Given the description of an element on the screen output the (x, y) to click on. 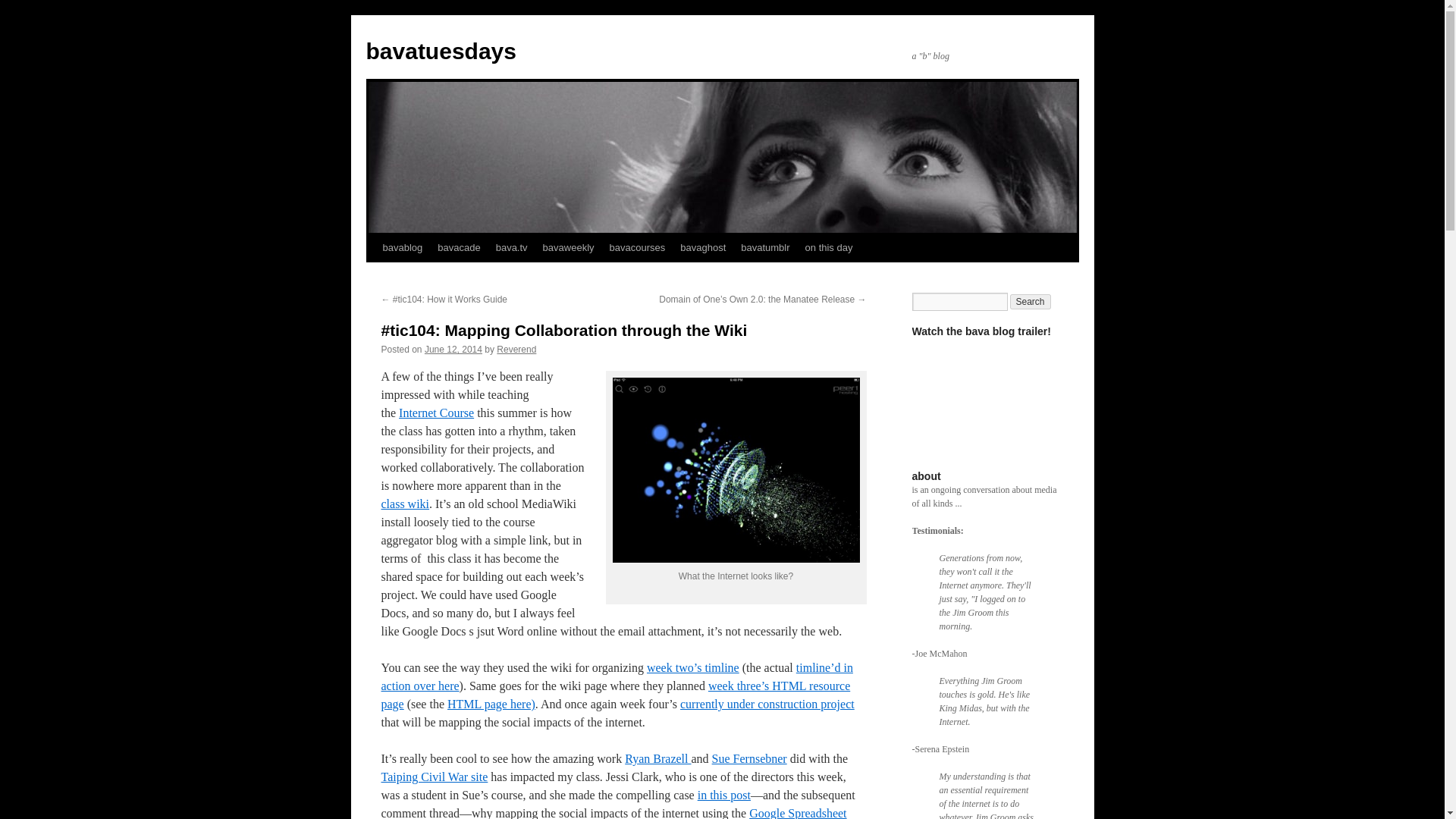
bavacourses (637, 247)
in this post (724, 794)
June 12, 2014 (453, 348)
on this day (828, 247)
Reverend (515, 348)
bavaghost (702, 247)
currently under construction project (766, 703)
Sue Fernsebner (749, 758)
bavacade (458, 247)
bava.tv (511, 247)
